Given the description of an element on the screen output the (x, y) to click on. 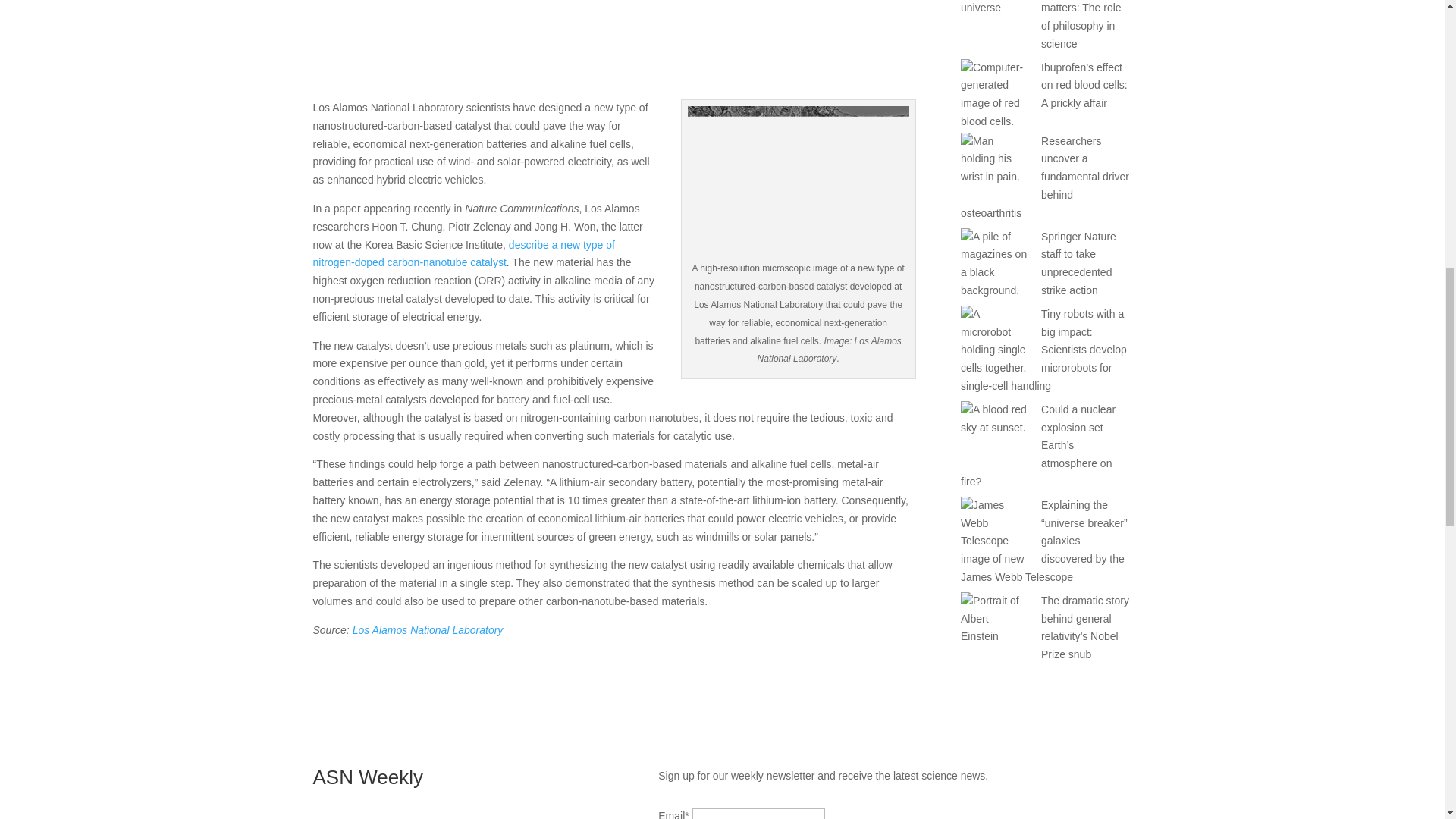
nanostructured-carbon-catalyst (578, 38)
Los Alamos National Laboratory (427, 630)
